Given the description of an element on the screen output the (x, y) to click on. 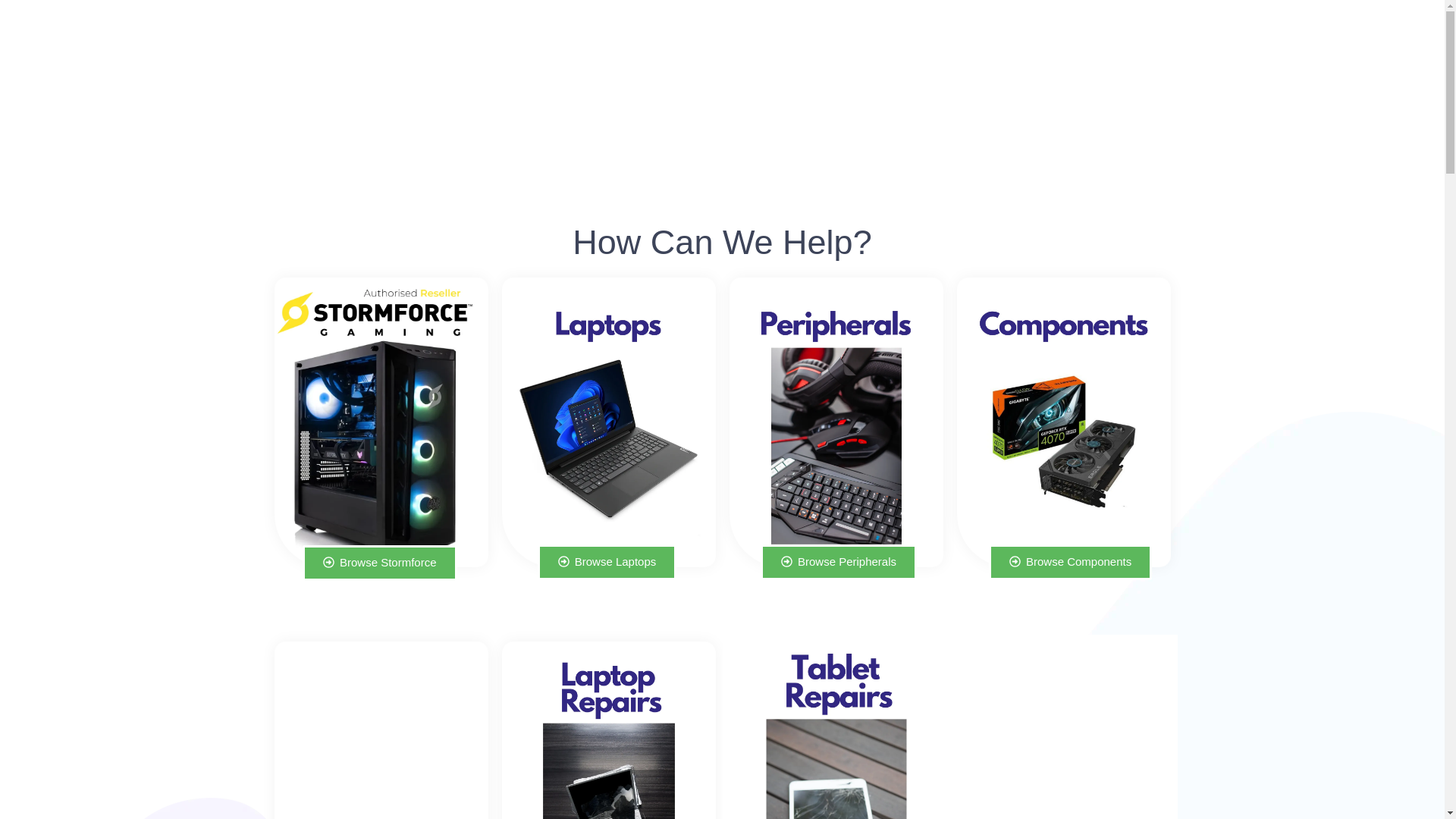
Browse Components (1069, 561)
Browse Peripherals (838, 561)
Browse Laptops (607, 561)
Browse Stormforce (379, 562)
